Given the description of an element on the screen output the (x, y) to click on. 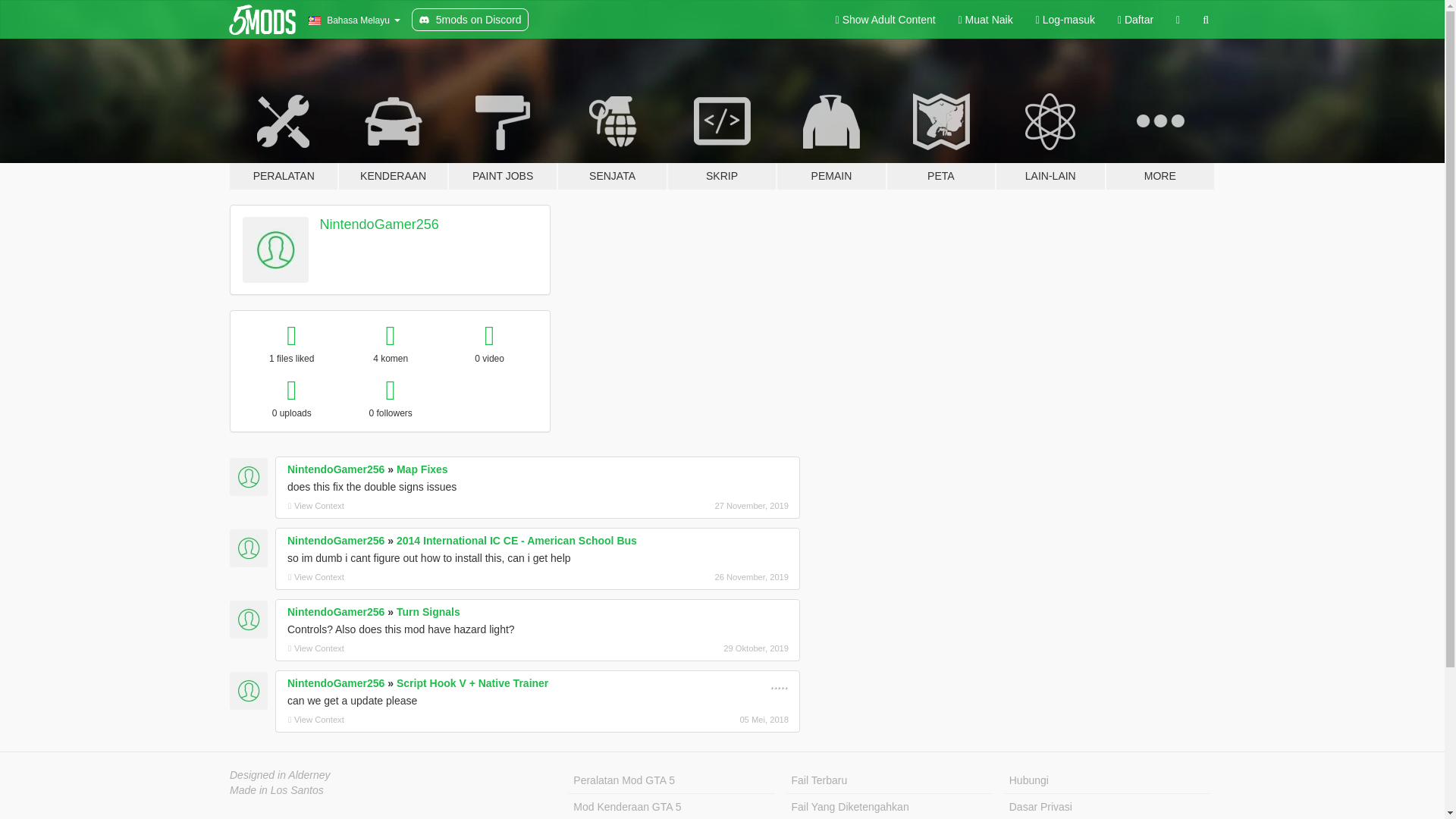
Terbaekkk! (772, 683)
Daftar (1135, 19)
Muat Naik (986, 19)
Dark mode (1177, 19)
5mods on Discord (470, 19)
Terbaekkk! (778, 683)
Terbaekkk! (775, 683)
  Bahasa Melayu (353, 19)
Show Adult Content (885, 19)
Terbaekkk! (782, 683)
Log-masuk (1065, 19)
Light mode (885, 19)
